Given the description of an element on the screen output the (x, y) to click on. 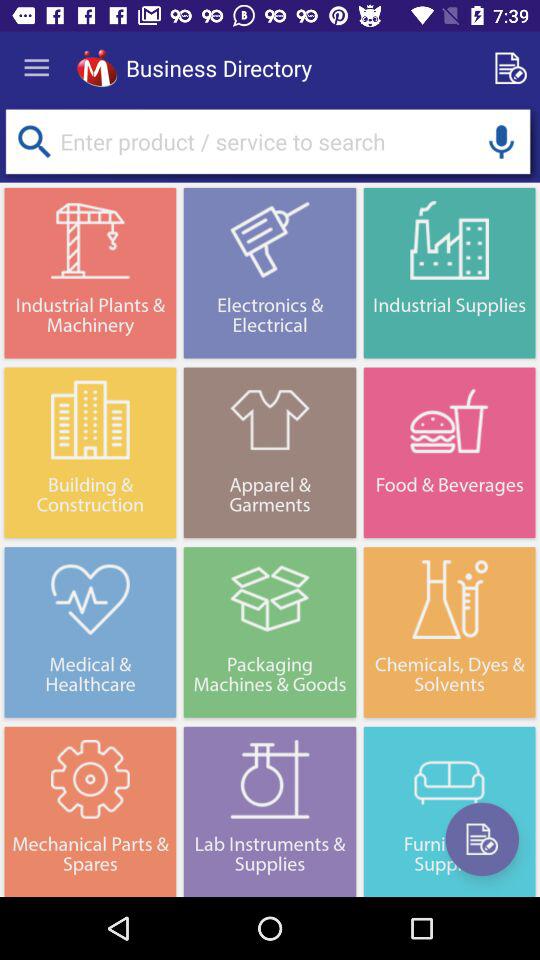
search product (34, 141)
